Given the description of an element on the screen output the (x, y) to click on. 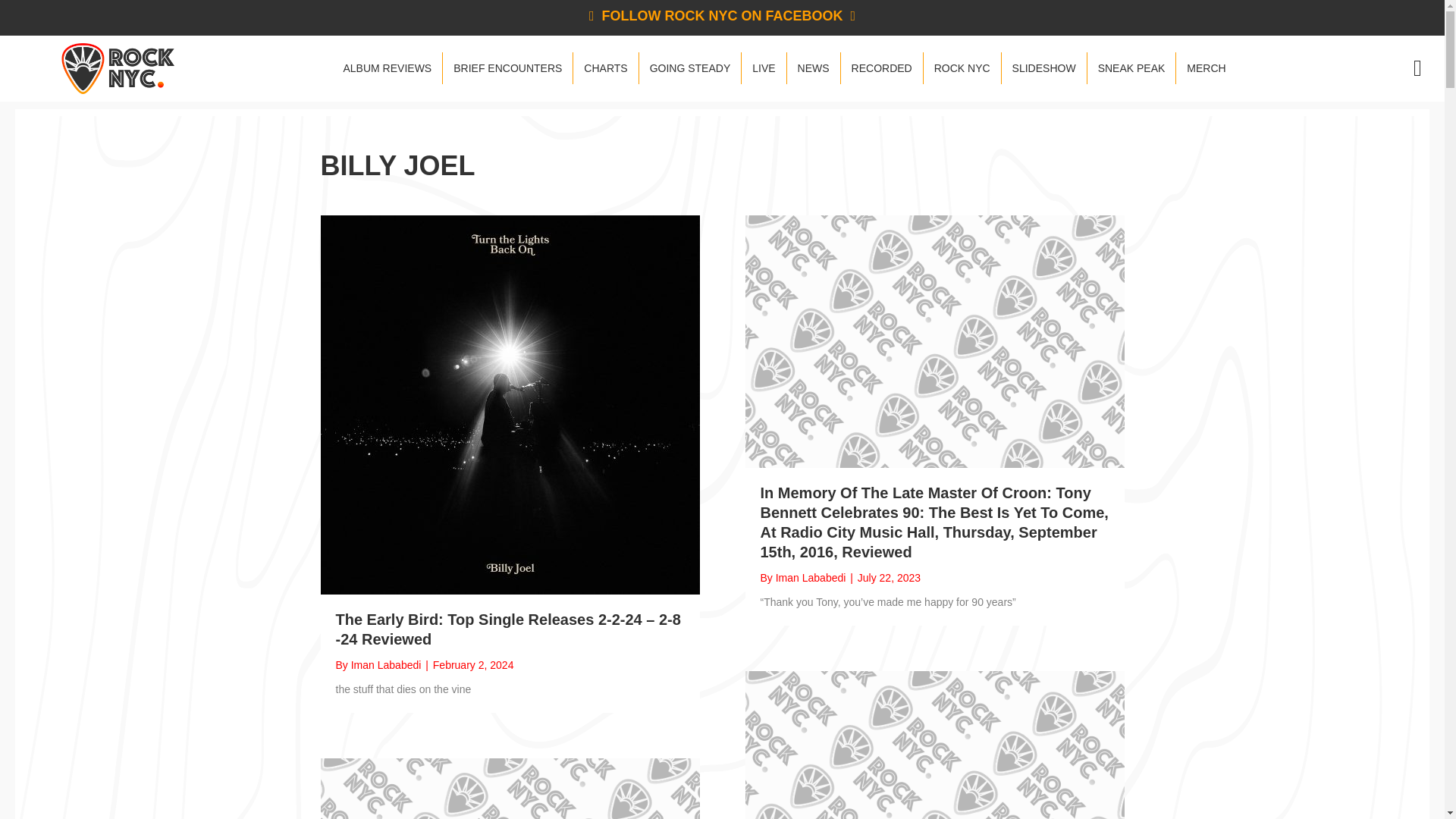
 FOLLOW ROCK NYC ON FACEBOOK   (722, 15)
CHARTS (605, 68)
RECORDED (882, 68)
Iman Lababedi (810, 577)
Iman Lababedi (386, 664)
ROCK NYC (962, 68)
BRIEF ENCOUNTERS (507, 68)
SLIDESHOW (1043, 68)
